Given the description of an element on the screen output the (x, y) to click on. 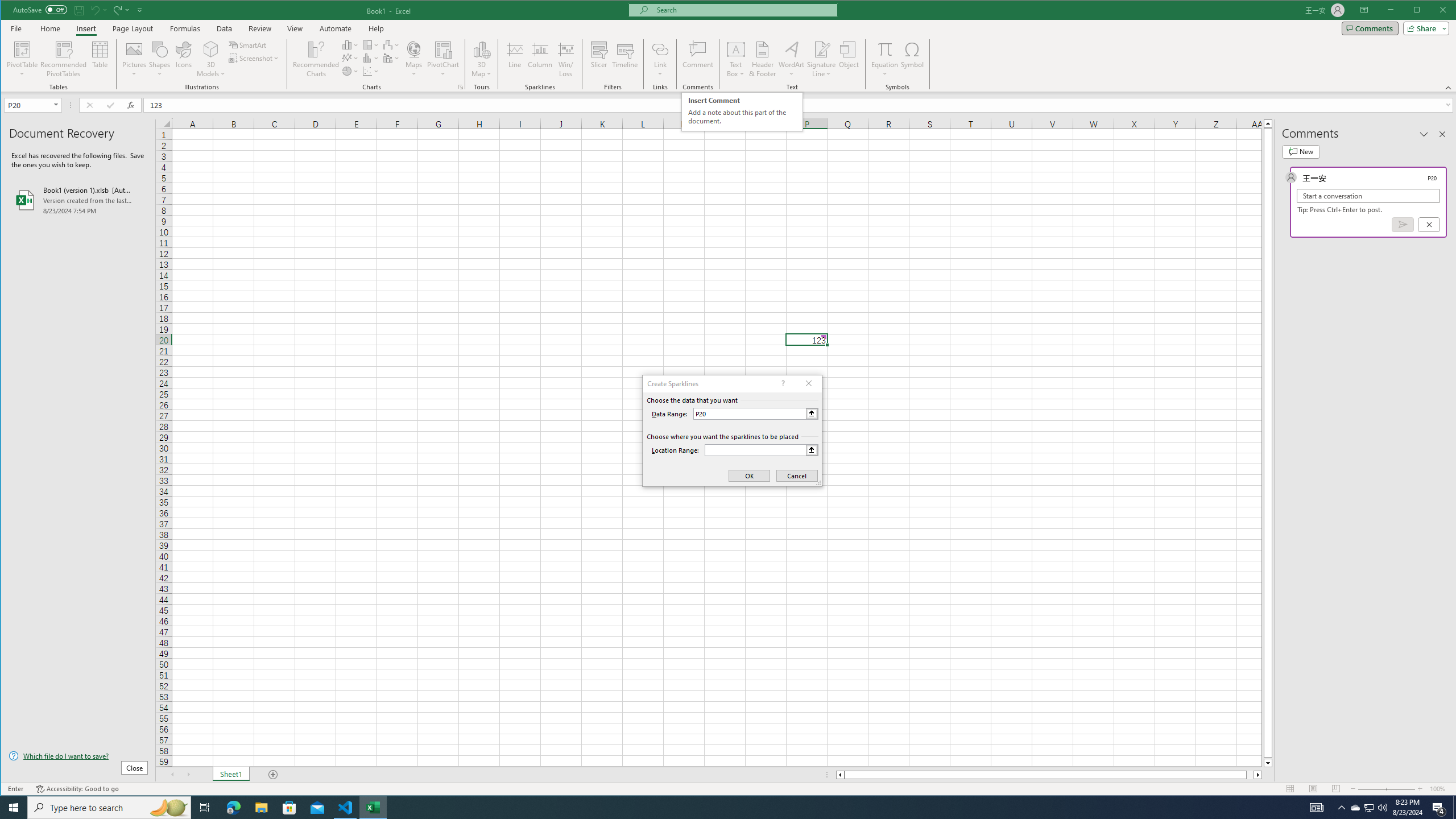
Insert Column or Bar Chart (742, 111)
Symbol... (350, 44)
Draw Horizontal Text Box (912, 59)
PivotChart (735, 48)
